Given the description of an element on the screen output the (x, y) to click on. 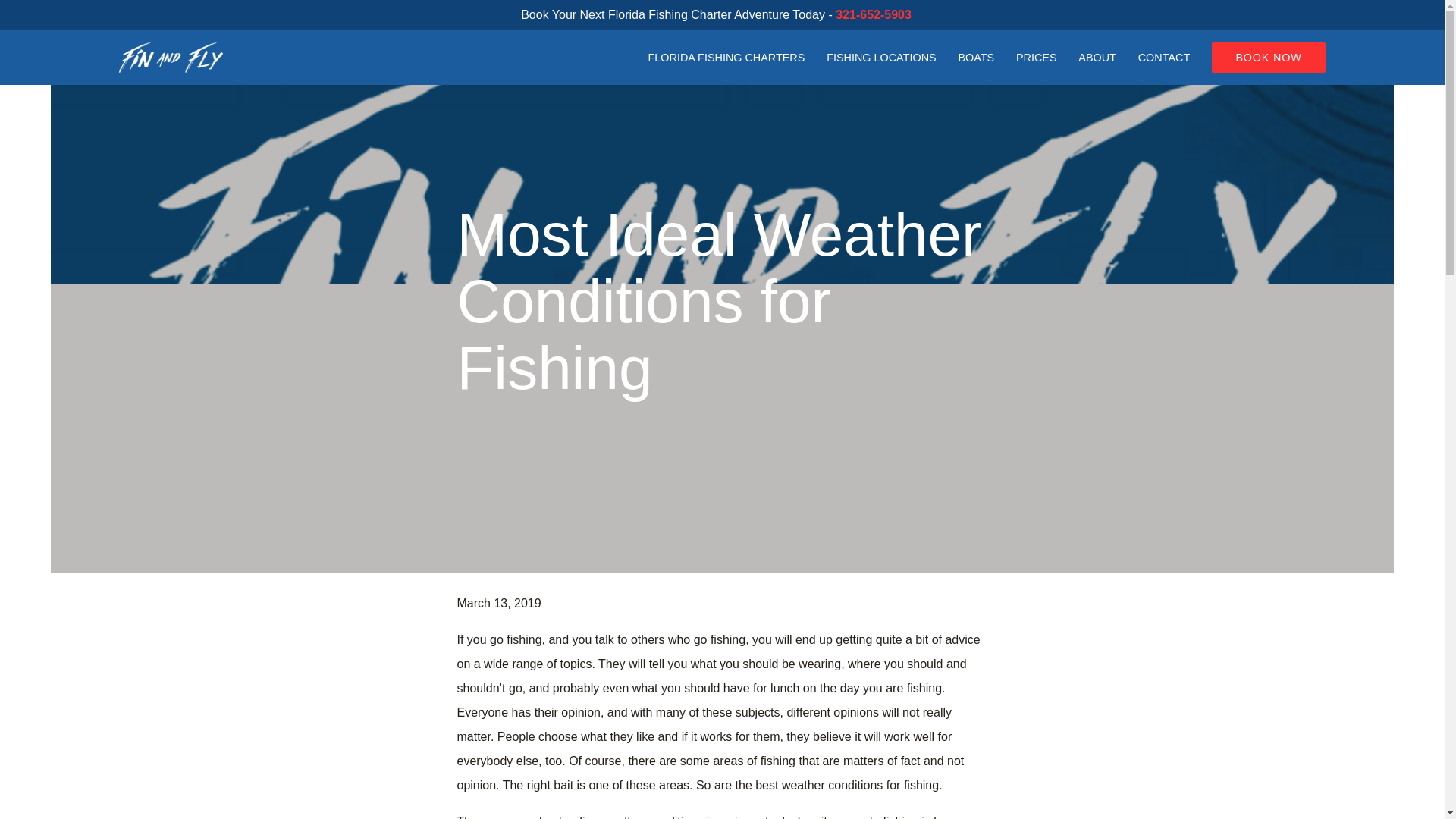
BOATS (976, 57)
PRICES (1036, 57)
FISHING LOCATIONS (881, 57)
FLORIDA FISHING CHARTERS (726, 57)
321-652-5903 (873, 14)
ABOUT (1097, 57)
BOOK NOW (1267, 57)
CONTACT (1163, 57)
